Given the description of an element on the screen output the (x, y) to click on. 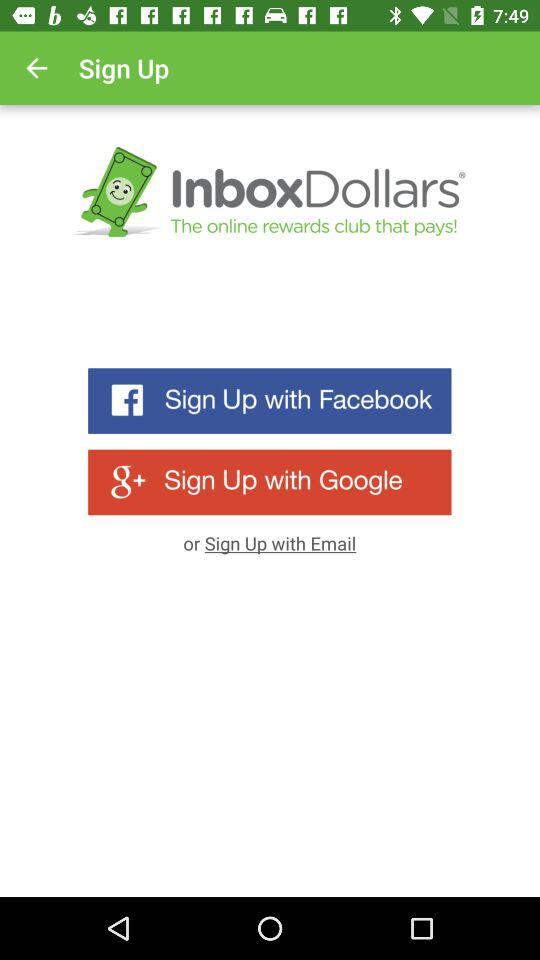
create an account linked to your google account (269, 482)
